Given the description of an element on the screen output the (x, y) to click on. 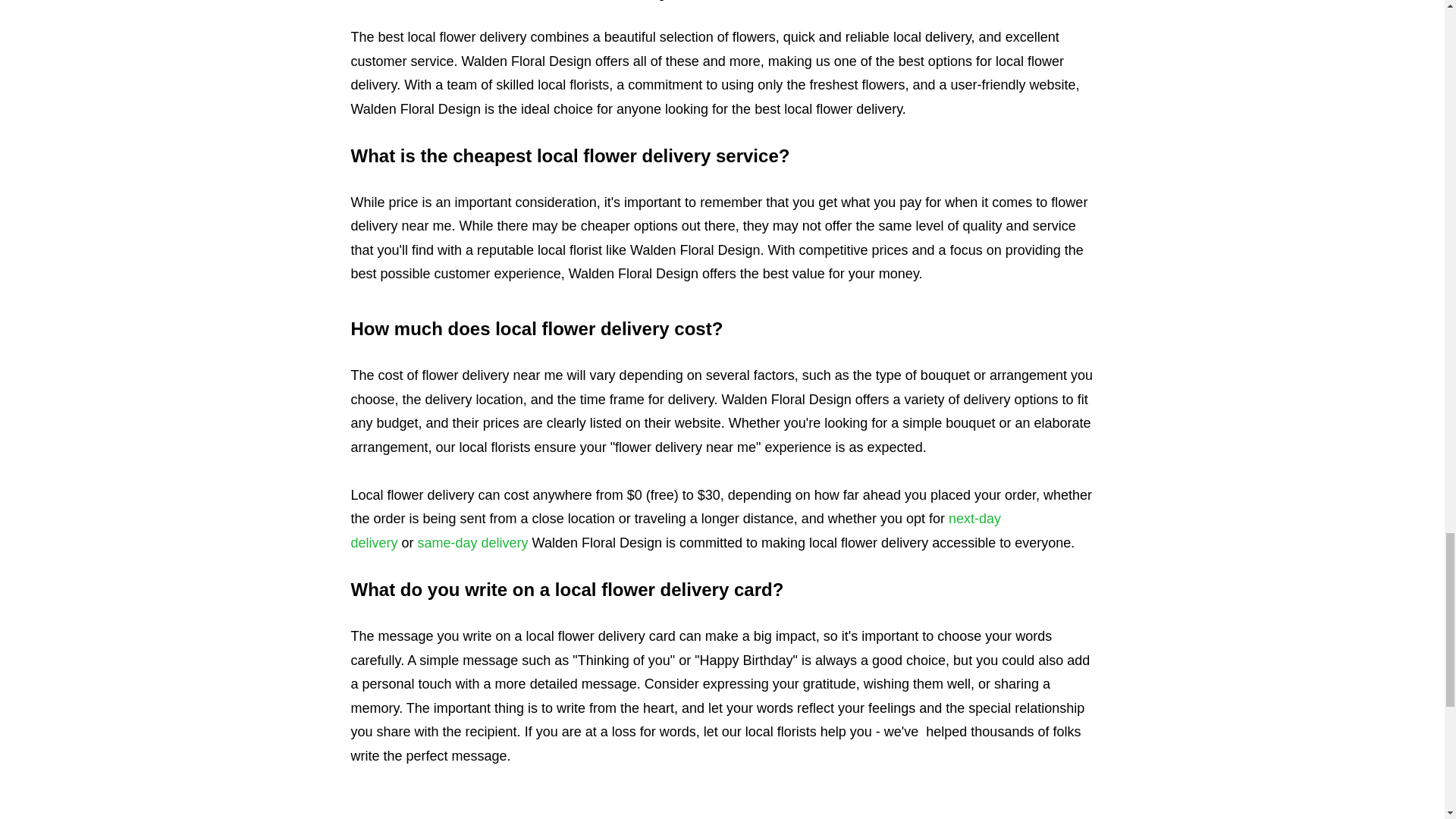
same-day delivery (472, 542)
Walden Floral Design Co. (722, 817)
next-day delivery (675, 530)
